Given the description of an element on the screen output the (x, y) to click on. 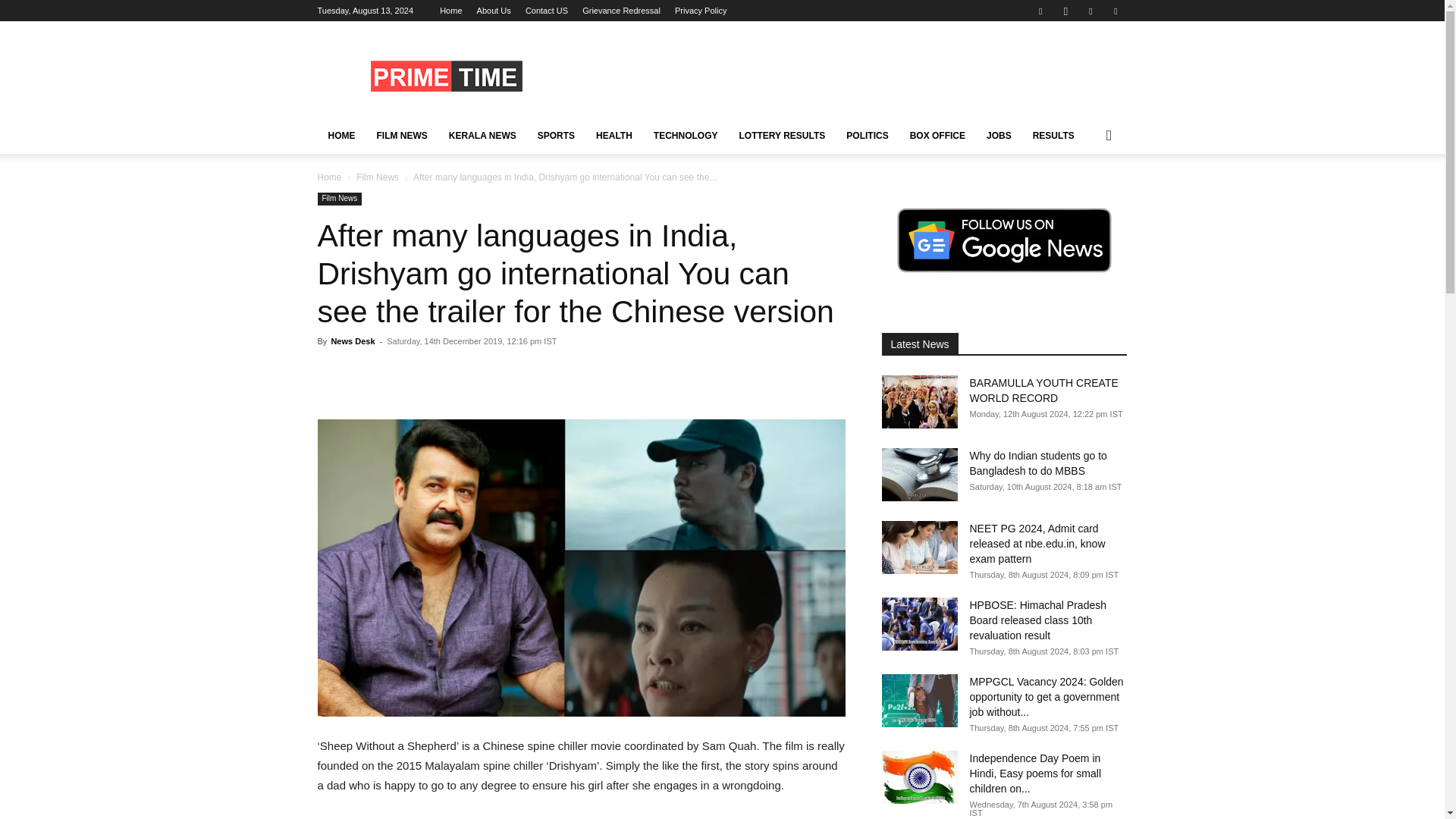
HEALTH (614, 135)
Youtube (1114, 10)
FILM NEWS (401, 135)
POLITICS (866, 135)
Grievance Redressal (621, 10)
SPORTS (556, 135)
BOX OFFICE (937, 135)
About Us (494, 10)
Facebook (1040, 10)
Home (450, 10)
